Given the description of an element on the screen output the (x, y) to click on. 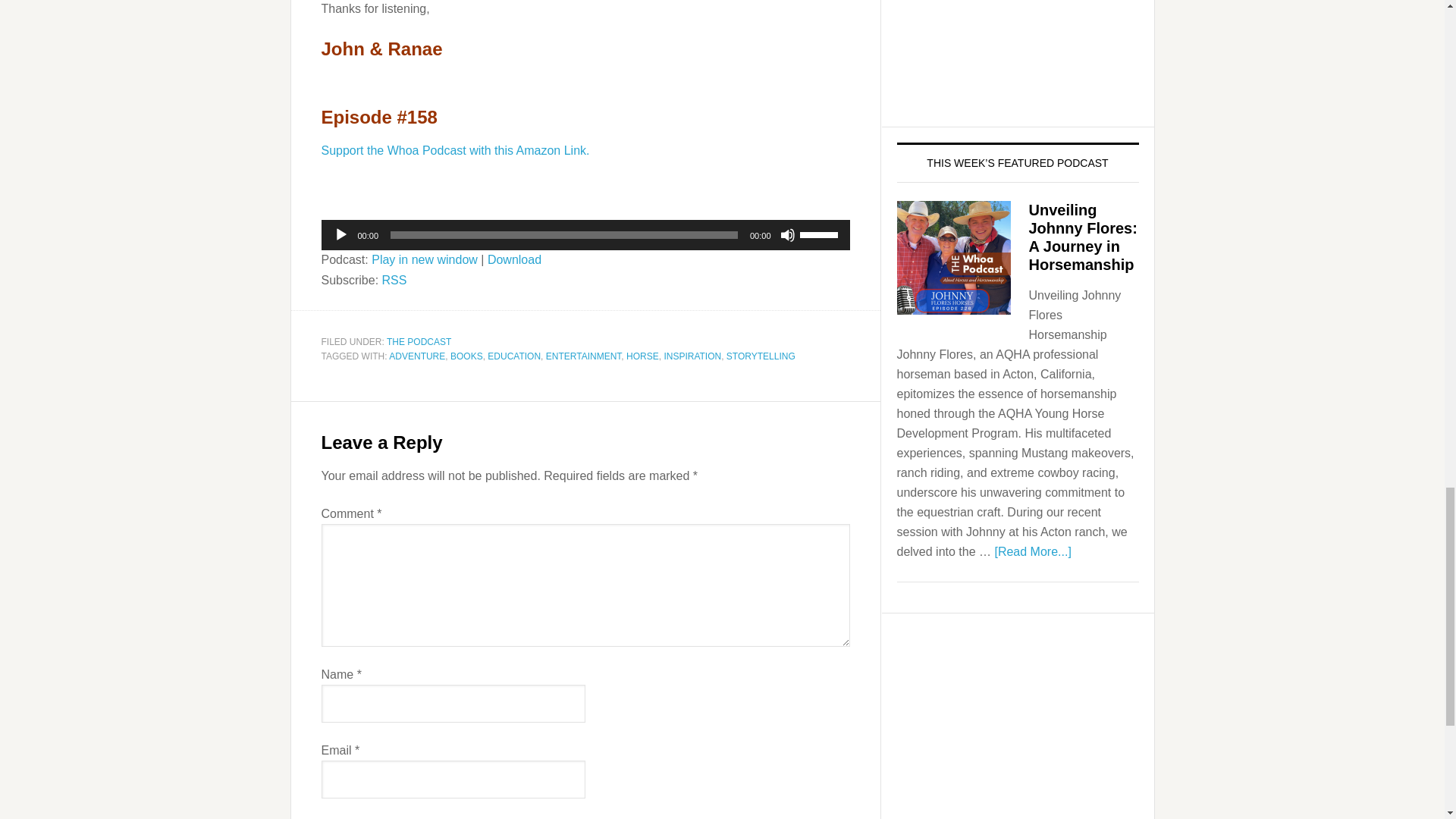
Download (514, 259)
Mute (786, 234)
RSS (394, 279)
Play in new window (424, 259)
INSPIRATION (691, 356)
ENTERTAINMENT (583, 356)
Play in new window (424, 259)
Play (341, 234)
THE PODCAST (419, 341)
EDUCATION (513, 356)
